Given the description of an element on the screen output the (x, y) to click on. 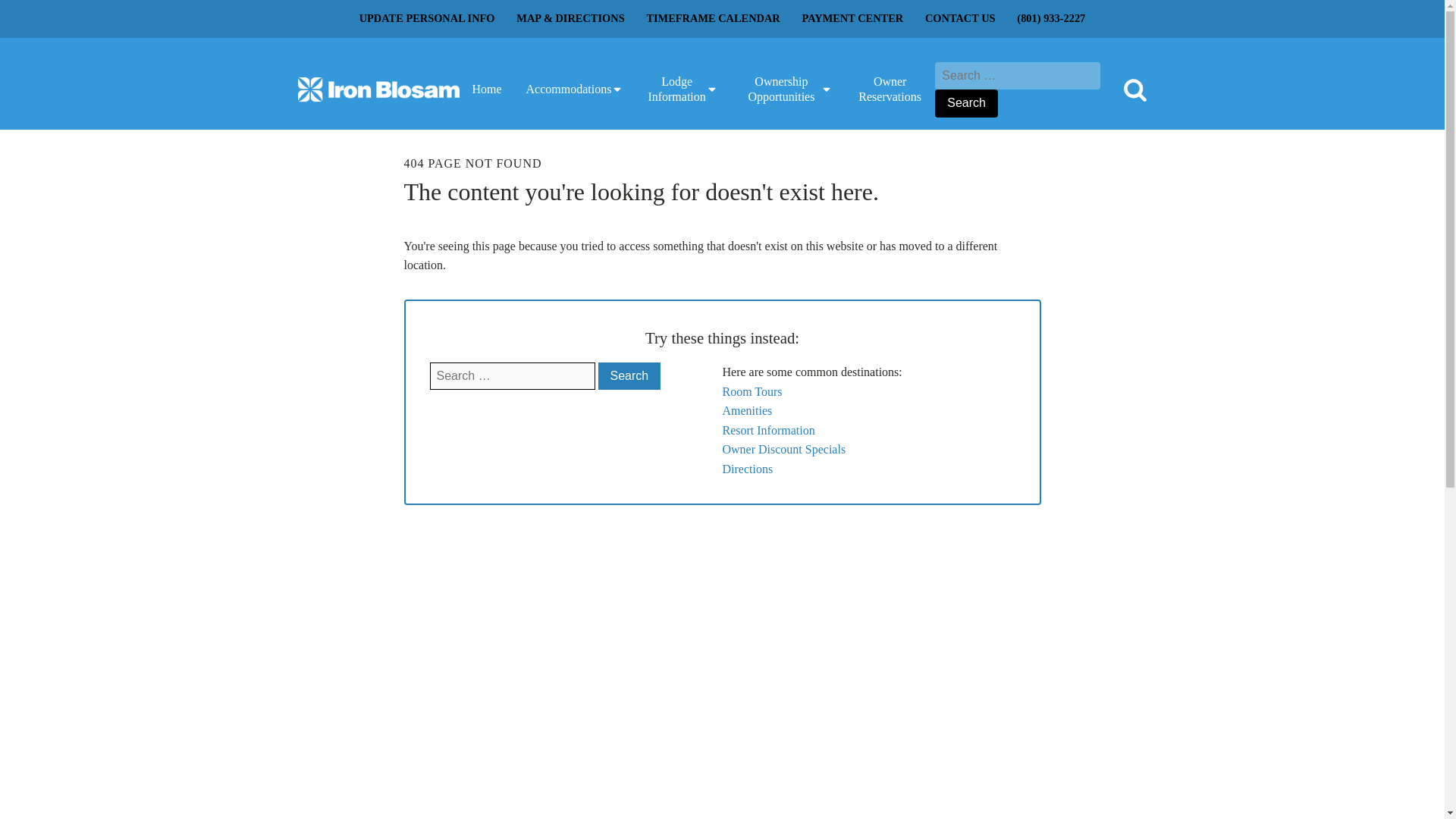
Home (486, 89)
Owner Reservations (889, 89)
CONTACT US (960, 18)
Search (628, 375)
UPDATE PERSONAL INFO (426, 18)
PAYMENT CENTER (852, 18)
Search (628, 375)
TIMEFRAME CALENDAR (712, 18)
Search (965, 103)
Search (965, 103)
